Given the description of an element on the screen output the (x, y) to click on. 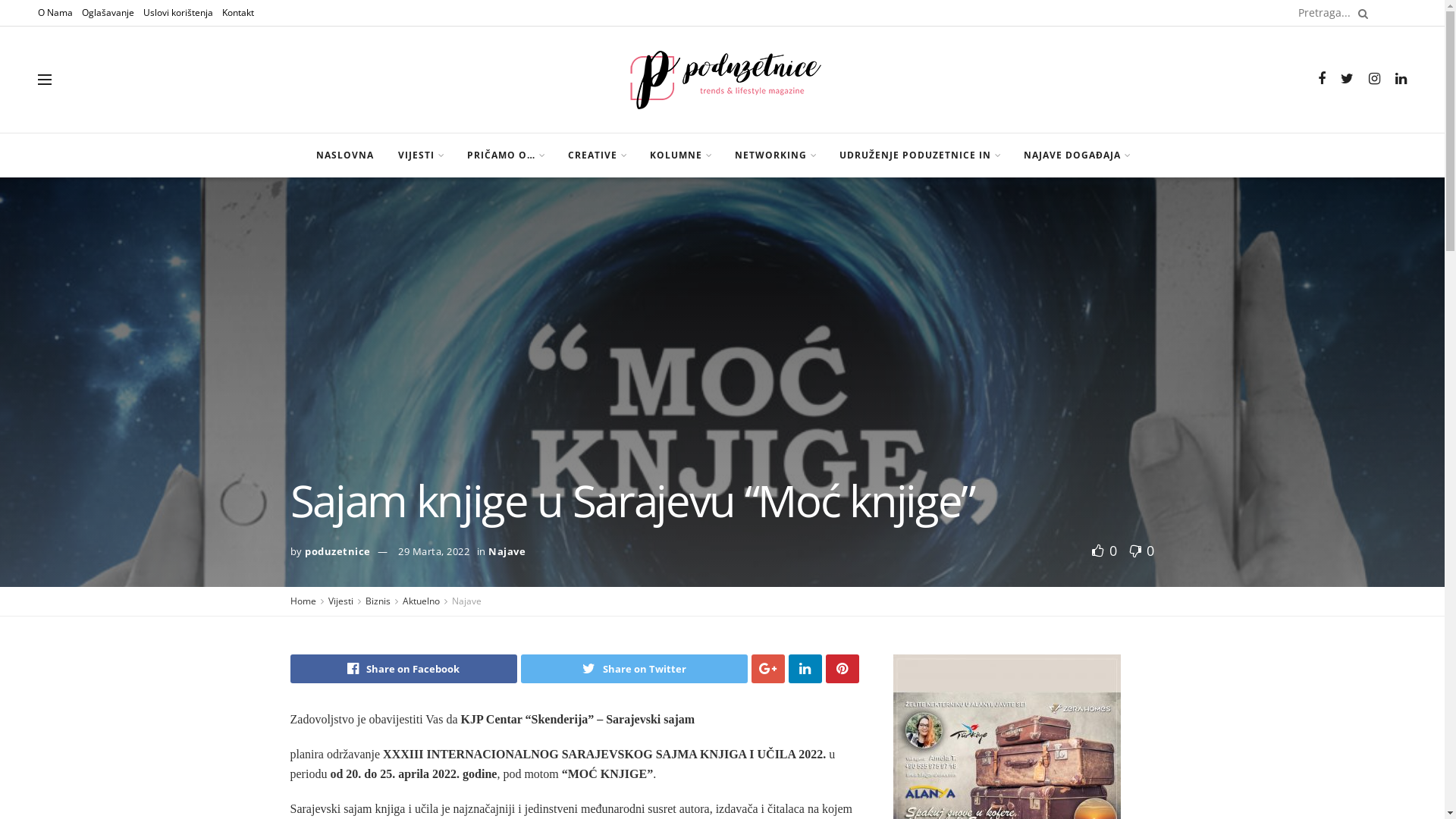
0 Element type: text (1137, 550)
Share on Facebook Element type: text (402, 668)
CREATIVE Element type: text (596, 155)
VIJESTI Element type: text (419, 155)
Najave Element type: text (466, 600)
Biznis Element type: text (377, 600)
Home Element type: text (302, 600)
0 Element type: text (1106, 550)
O Nama Element type: text (54, 12)
KOLUMNE Element type: text (679, 155)
Kontakt Element type: text (238, 12)
Aktuelno Element type: text (420, 600)
NETWORKING Element type: text (773, 155)
NASLOVNA Element type: text (344, 155)
29 Marta, 2022 Element type: text (433, 551)
poduzetnice Element type: text (337, 551)
Najave Element type: text (506, 551)
Share on Twitter Element type: text (633, 668)
Vijesti Element type: text (339, 600)
